Given the description of an element on the screen output the (x, y) to click on. 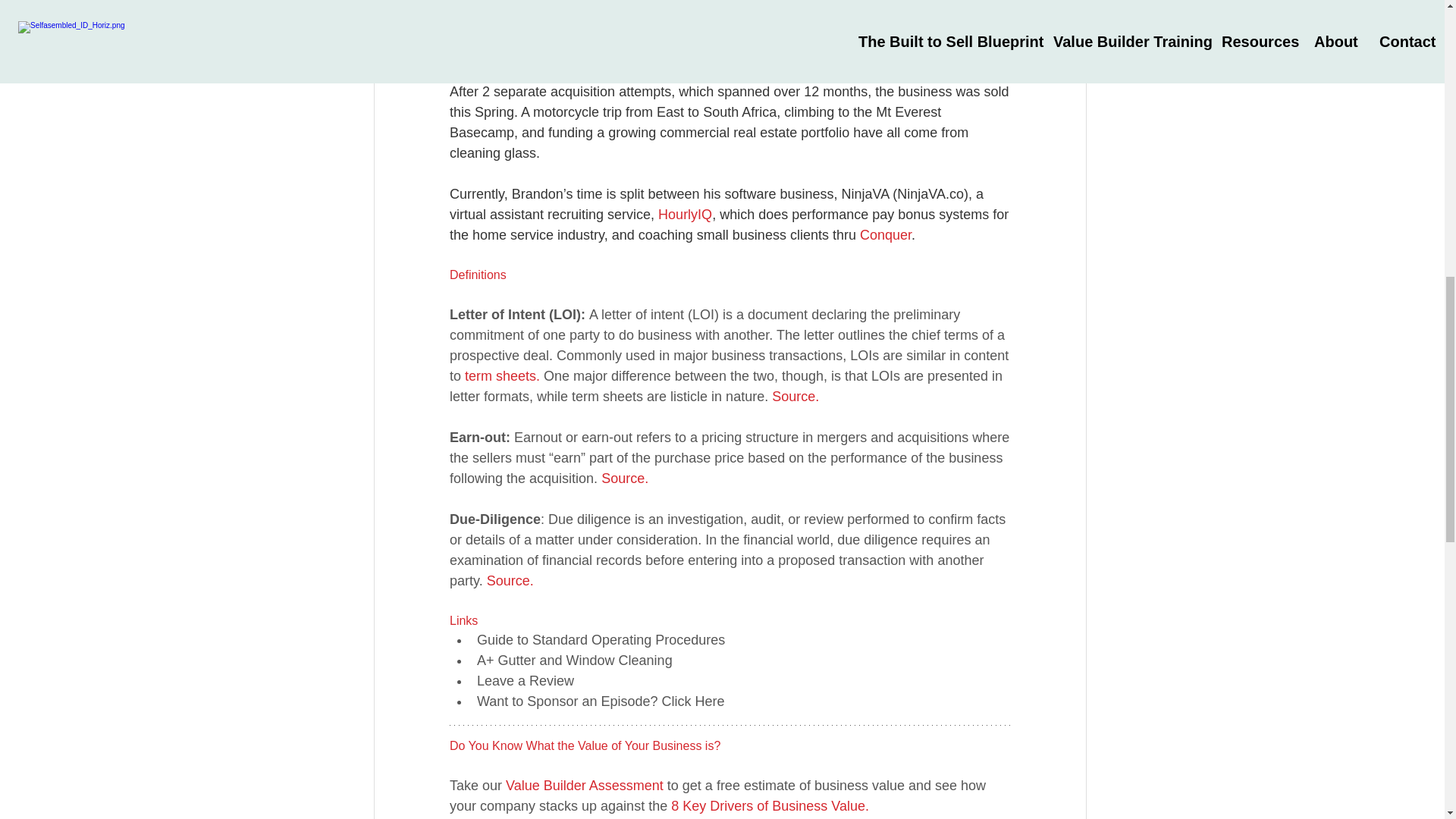
8 Key Drivers of Business Value (767, 806)
Leave a Review (524, 680)
Conquer (885, 234)
HourlyIQ (684, 214)
term sheets (499, 376)
Source. (509, 580)
Source. (794, 396)
Value Builder Assessment (584, 785)
Source. (624, 478)
Guide to Standard Operating Procedures (599, 639)
Click Here (692, 701)
